Given the description of an element on the screen output the (x, y) to click on. 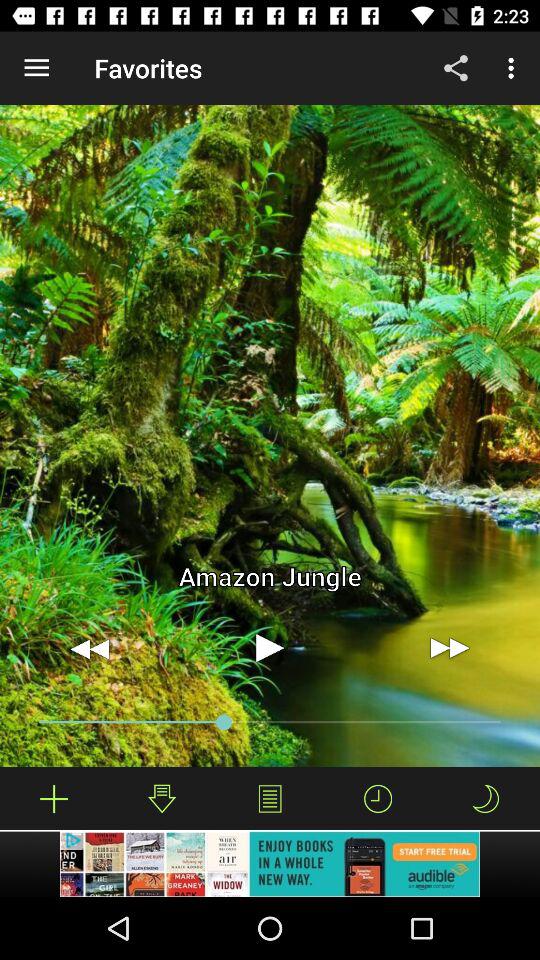
turn off icon to the right of favorites icon (455, 67)
